Given the description of an element on the screen output the (x, y) to click on. 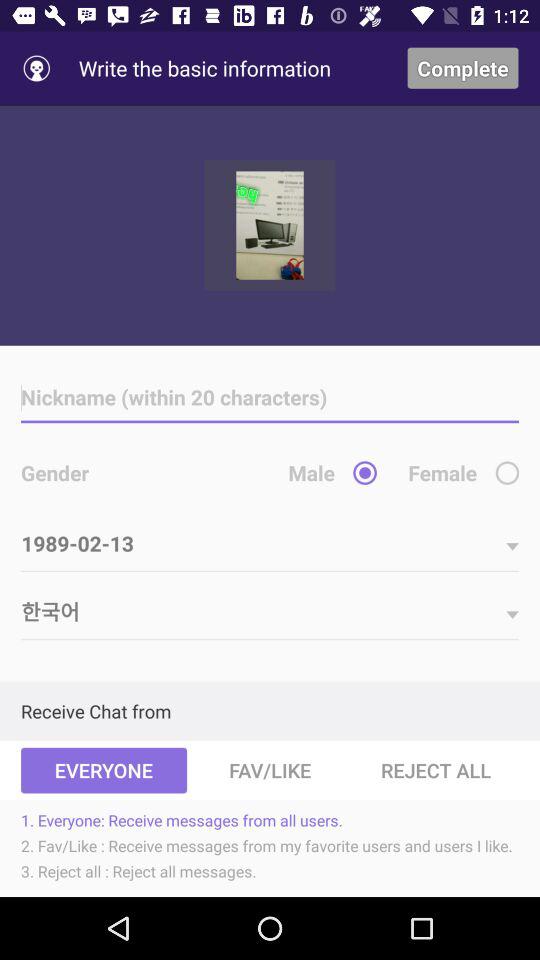
select option (507, 472)
